Given the description of an element on the screen output the (x, y) to click on. 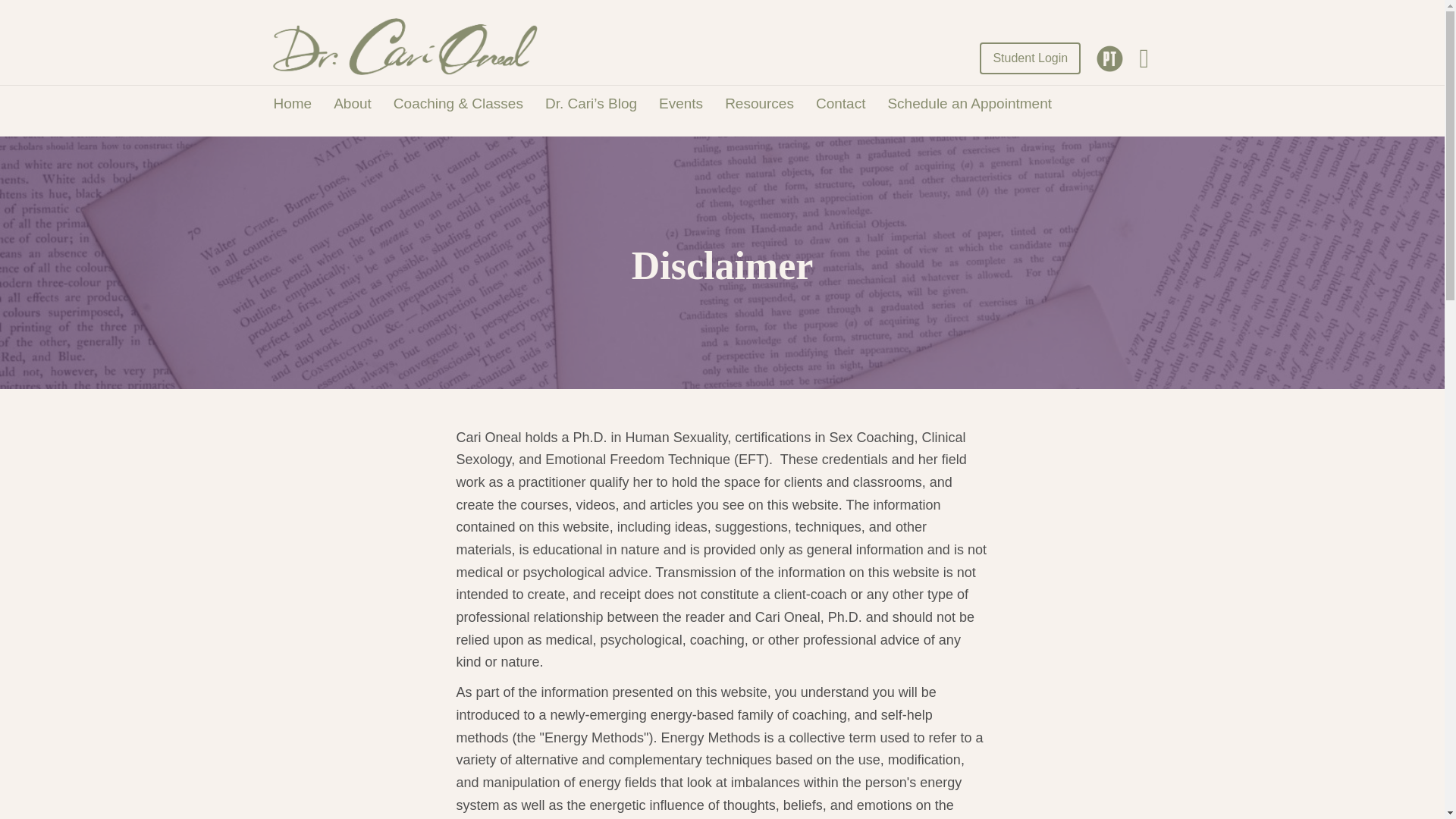
Psychology Today (1109, 58)
About (352, 103)
Student Login (1029, 58)
Contact (840, 103)
Events (680, 103)
Resources (759, 103)
Logo- new colors-01 (404, 46)
Schedule an Appointment (969, 103)
Home (291, 103)
